Given the description of an element on the screen output the (x, y) to click on. 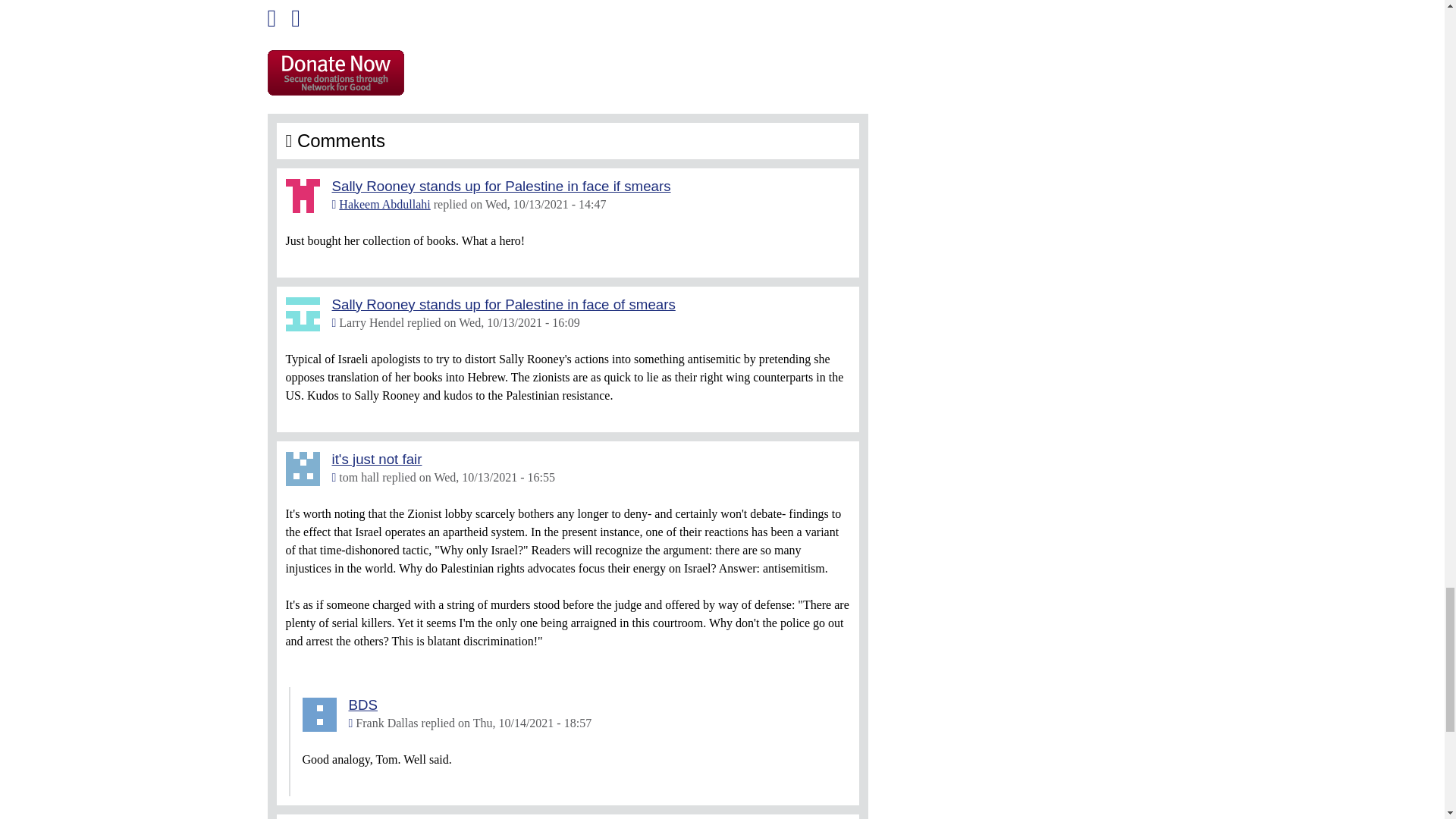
Sally Rooney stands up for Palestine in face if smears (501, 186)
